Given the description of an element on the screen output the (x, y) to click on. 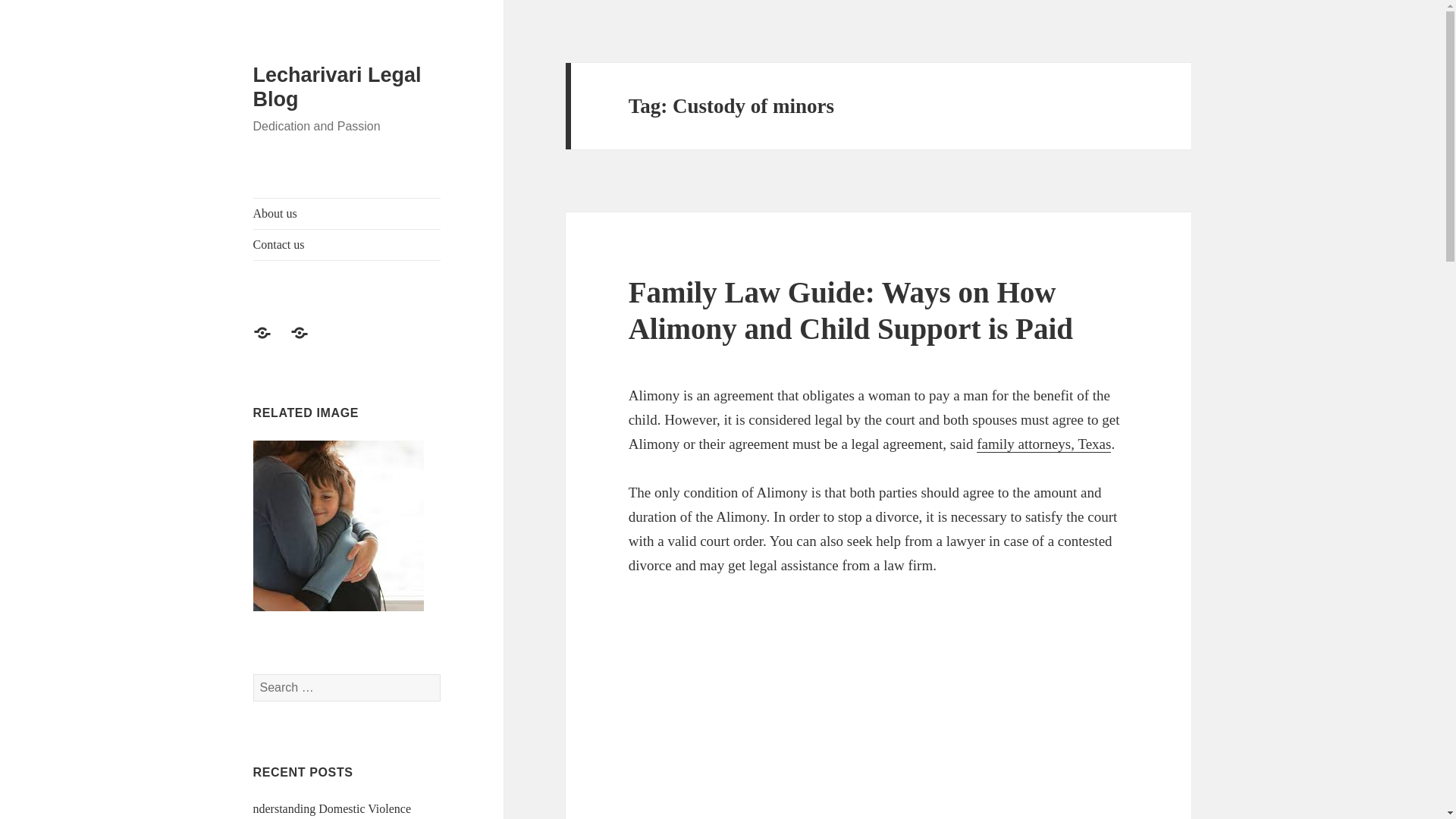
About us (347, 214)
Contact us (307, 341)
Lecharivari Legal Blog (337, 86)
Contact us (347, 245)
About us (271, 341)
